Given the description of an element on the screen output the (x, y) to click on. 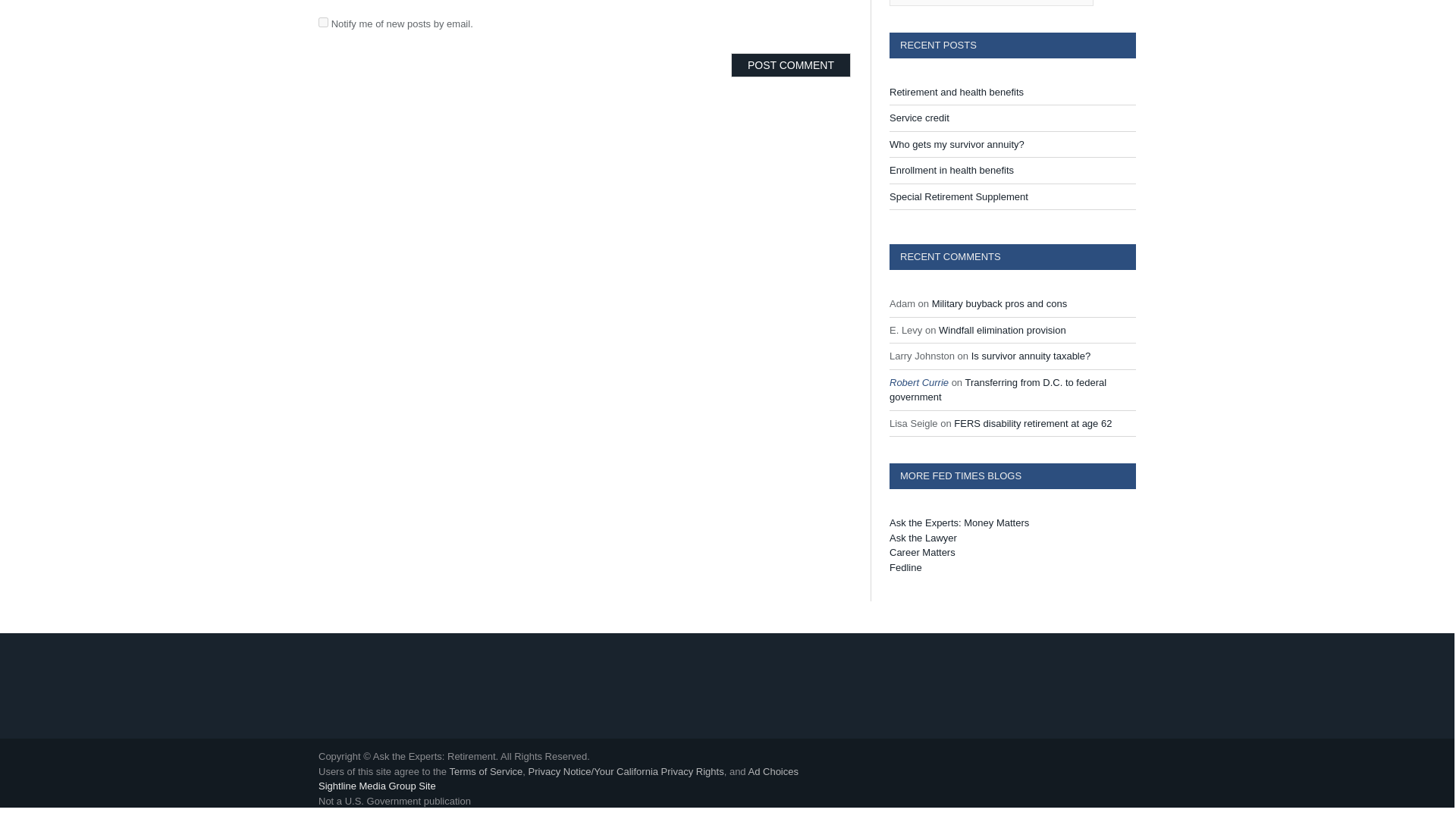
subscribe (323, 22)
Post Comment (790, 64)
